Given the description of an element on the screen output the (x, y) to click on. 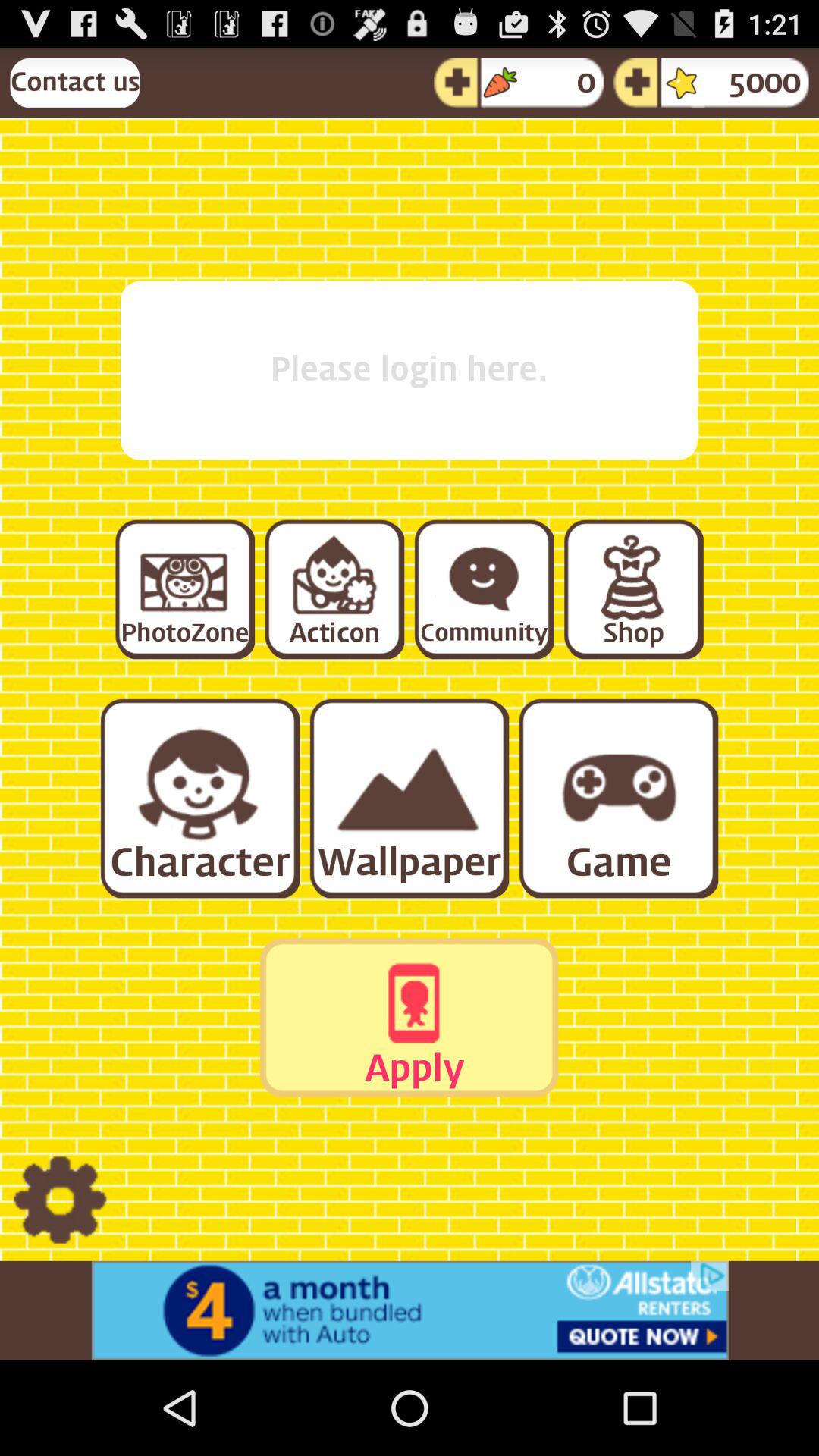
go to shop section (632, 588)
